Given the description of an element on the screen output the (x, y) to click on. 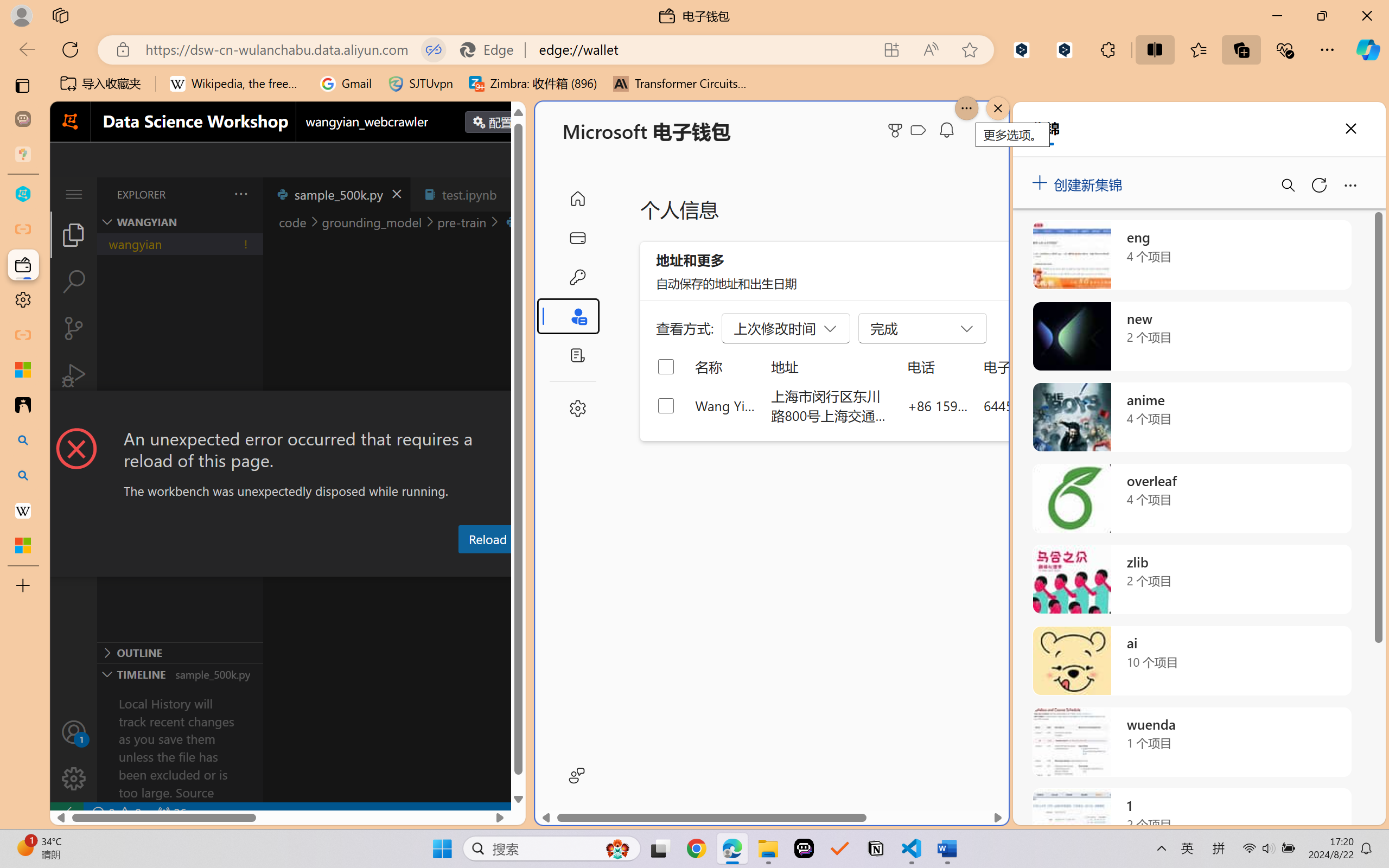
Accounts - Sign in requested (73, 732)
Explorer actions (212, 194)
Search (Ctrl+Shift+F) (73, 281)
Application Menu (73, 194)
Class: ___1lmltc5 f1agt3bx f12qytpq (917, 130)
Terminal (Ctrl+`) (553, 565)
Source Control (Ctrl+Shift+G) (73, 328)
test.ipynb (468, 194)
SJTUvpn (419, 83)
